Given the description of an element on the screen output the (x, y) to click on. 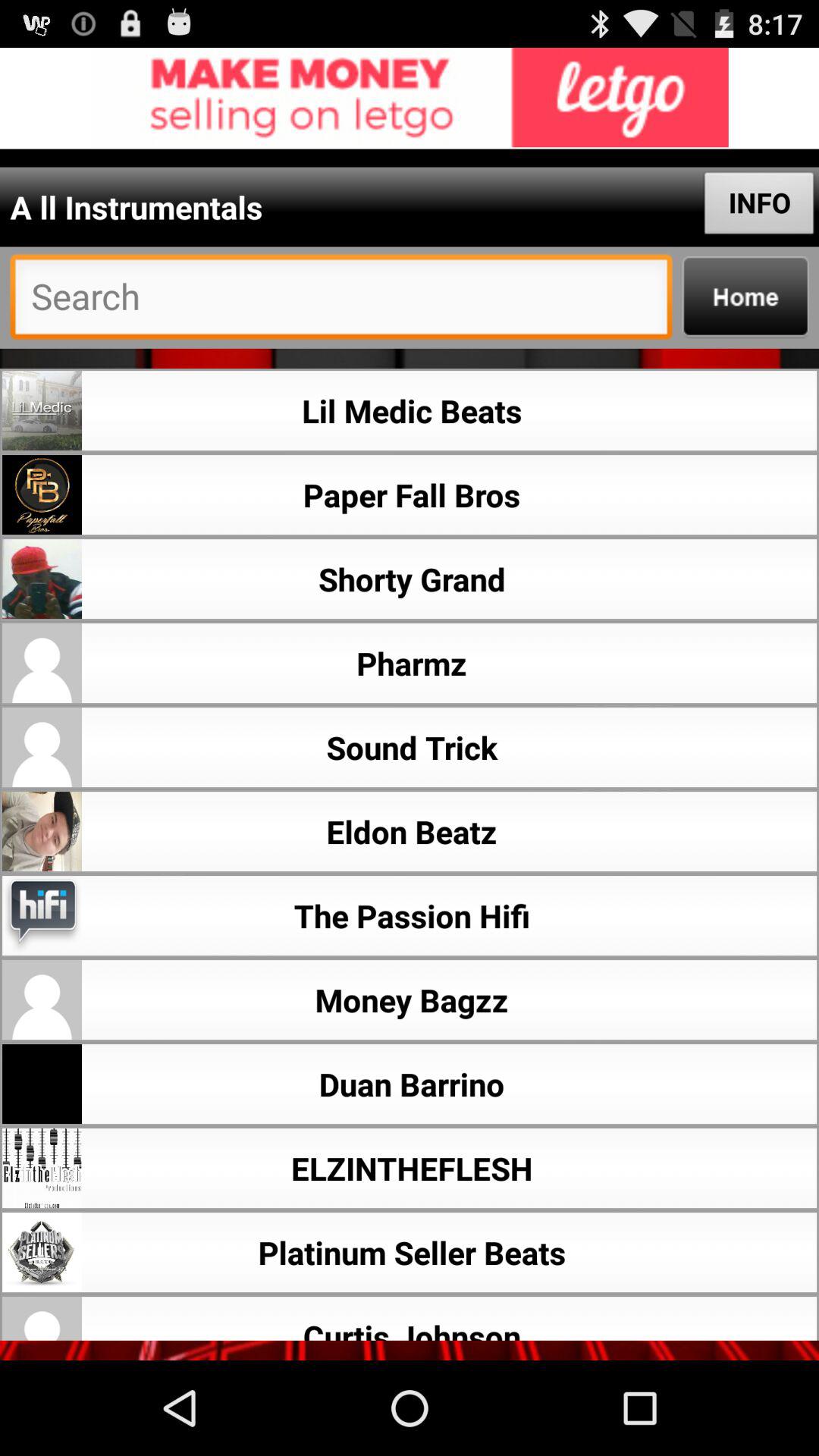
go back to home page (745, 297)
